Given the description of an element on the screen output the (x, y) to click on. 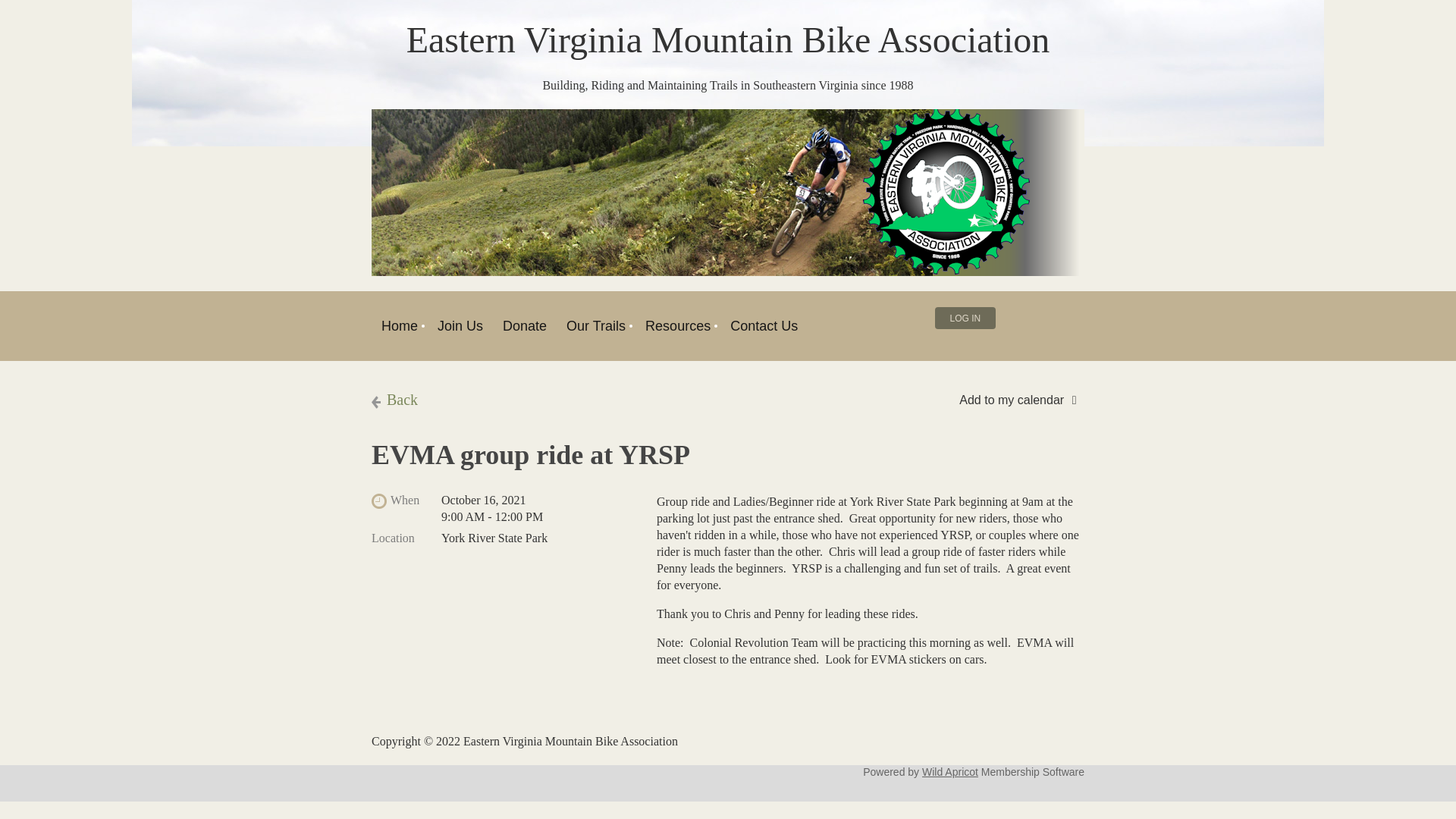
Our Trails (595, 325)
Home (399, 325)
Wild Apricot (949, 771)
Contact Us (764, 325)
Donate (524, 325)
Resources (677, 325)
Back (394, 399)
LOG IN (964, 318)
Our Trails (595, 325)
Donate (524, 325)
